Given the description of an element on the screen output the (x, y) to click on. 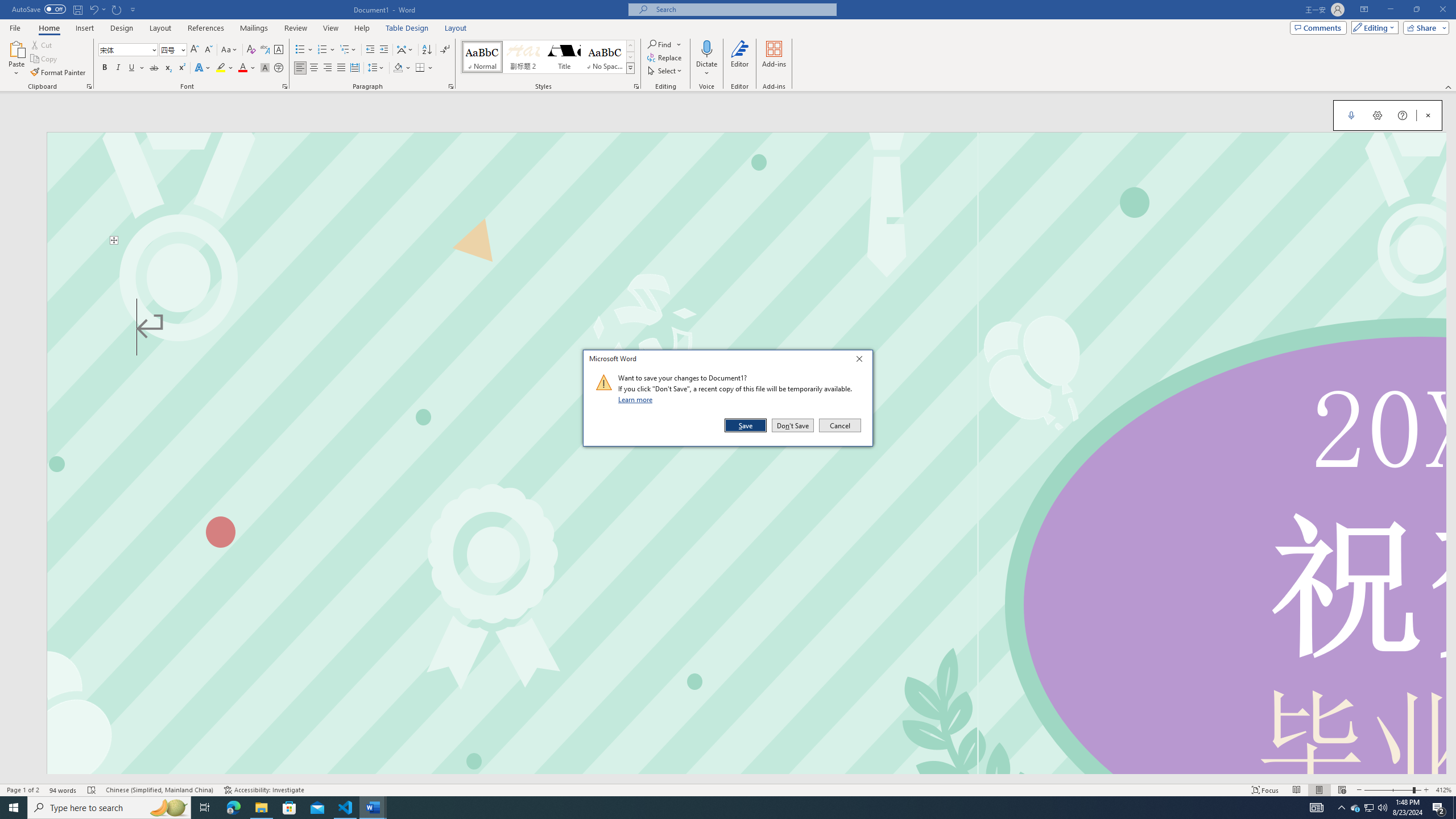
Close Dictation (1428, 115)
